Given the description of an element on the screen output the (x, y) to click on. 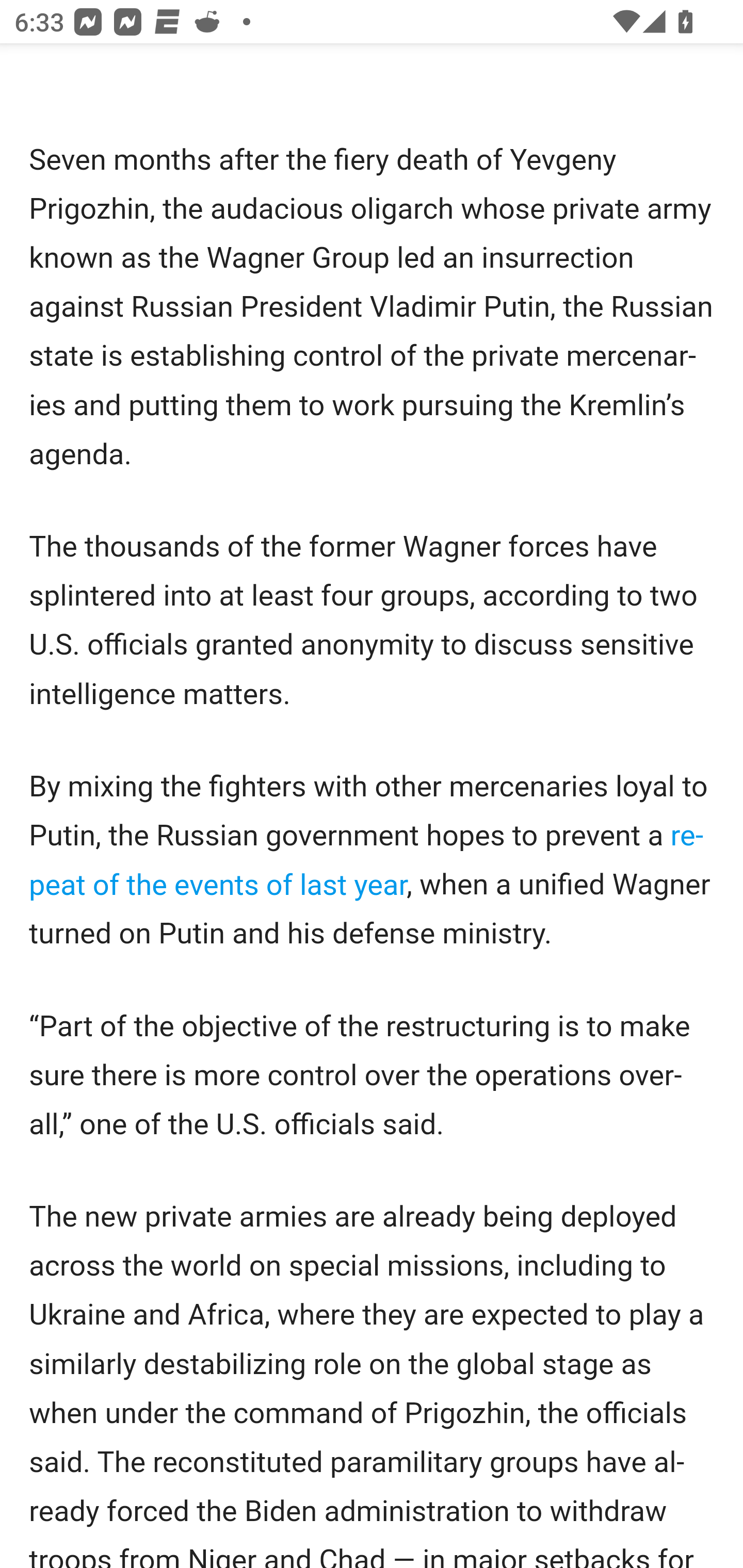
repeat of the events of last year (366, 859)
